Given the description of an element on the screen output the (x, y) to click on. 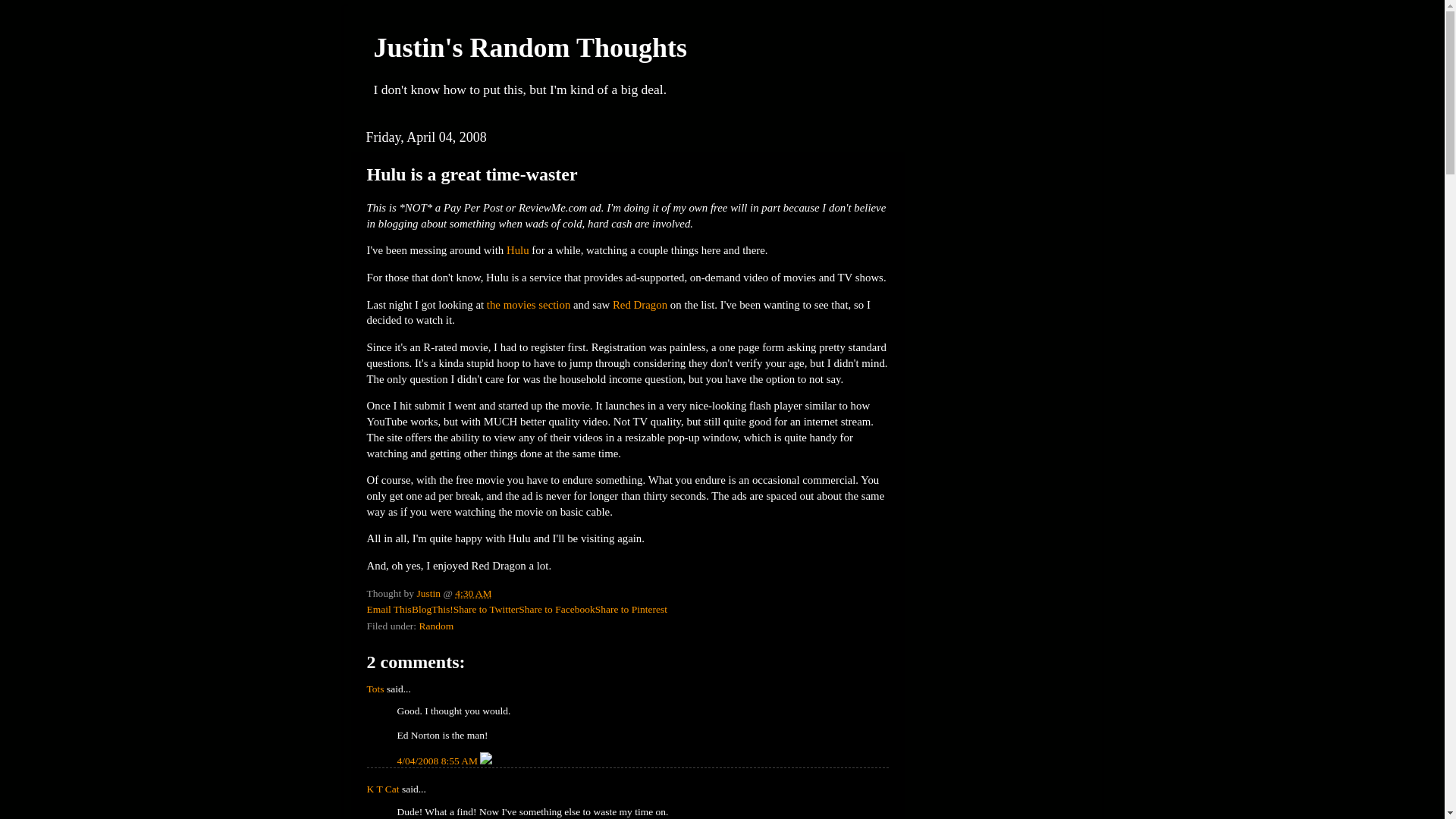
Email This (389, 609)
Delete Comment (486, 760)
Share to Facebook (556, 609)
Hulu (517, 250)
Share to Twitter (485, 609)
Justin (430, 593)
permanent link (473, 593)
Random (435, 625)
the movies section (528, 304)
Share to Facebook (556, 609)
Share to Twitter (485, 609)
Red Dragon (639, 304)
Share to Pinterest (630, 609)
Tots (375, 688)
author profile (430, 593)
